Given the description of an element on the screen output the (x, y) to click on. 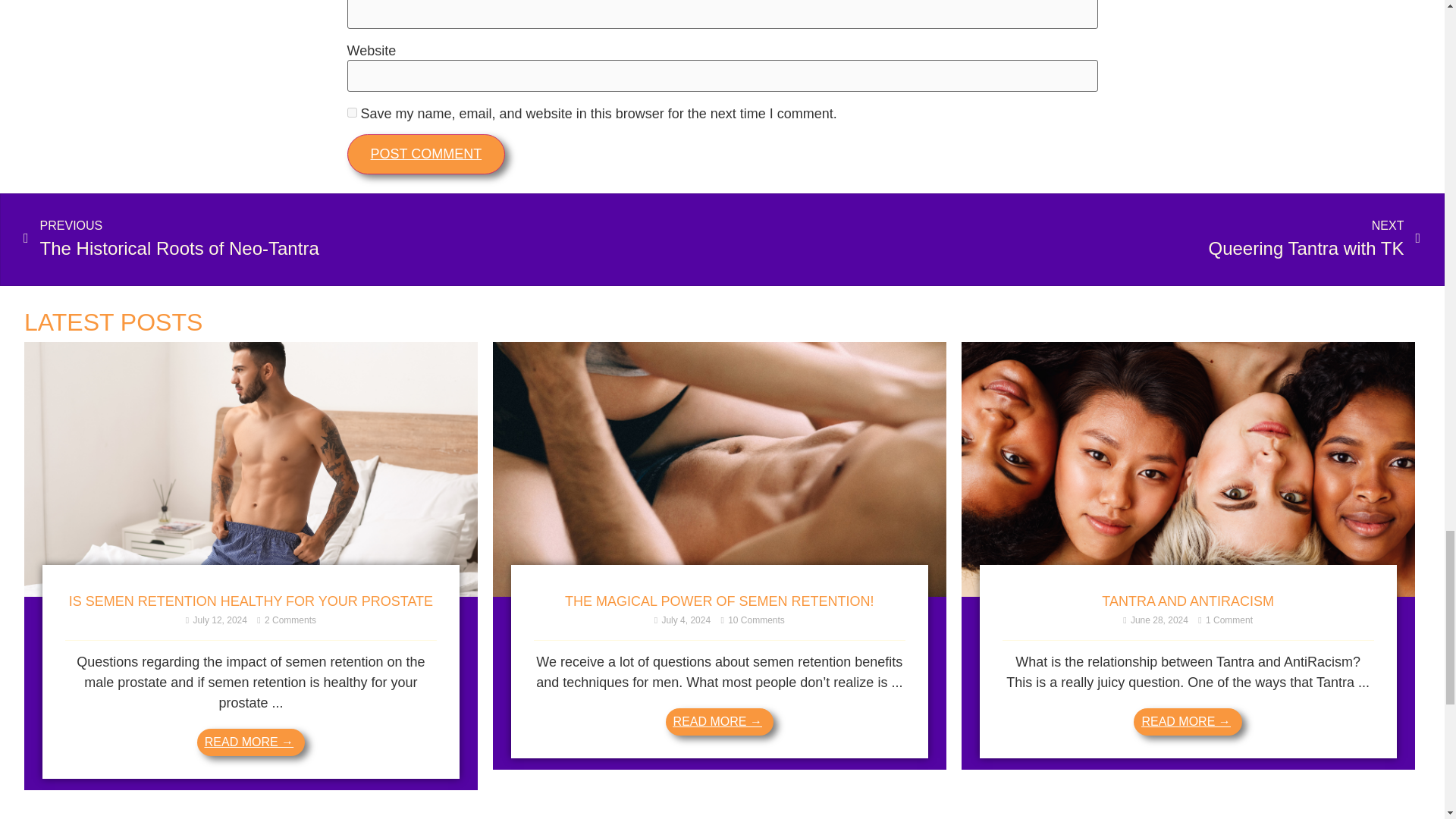
The Magical Power Of Semen Retention! (719, 591)
Tantra and Antiracism (1187, 591)
yes (351, 112)
Is Semen Retention Healthy for Your Prostate (250, 591)
Post Comment (426, 154)
